Given the description of an element on the screen output the (x, y) to click on. 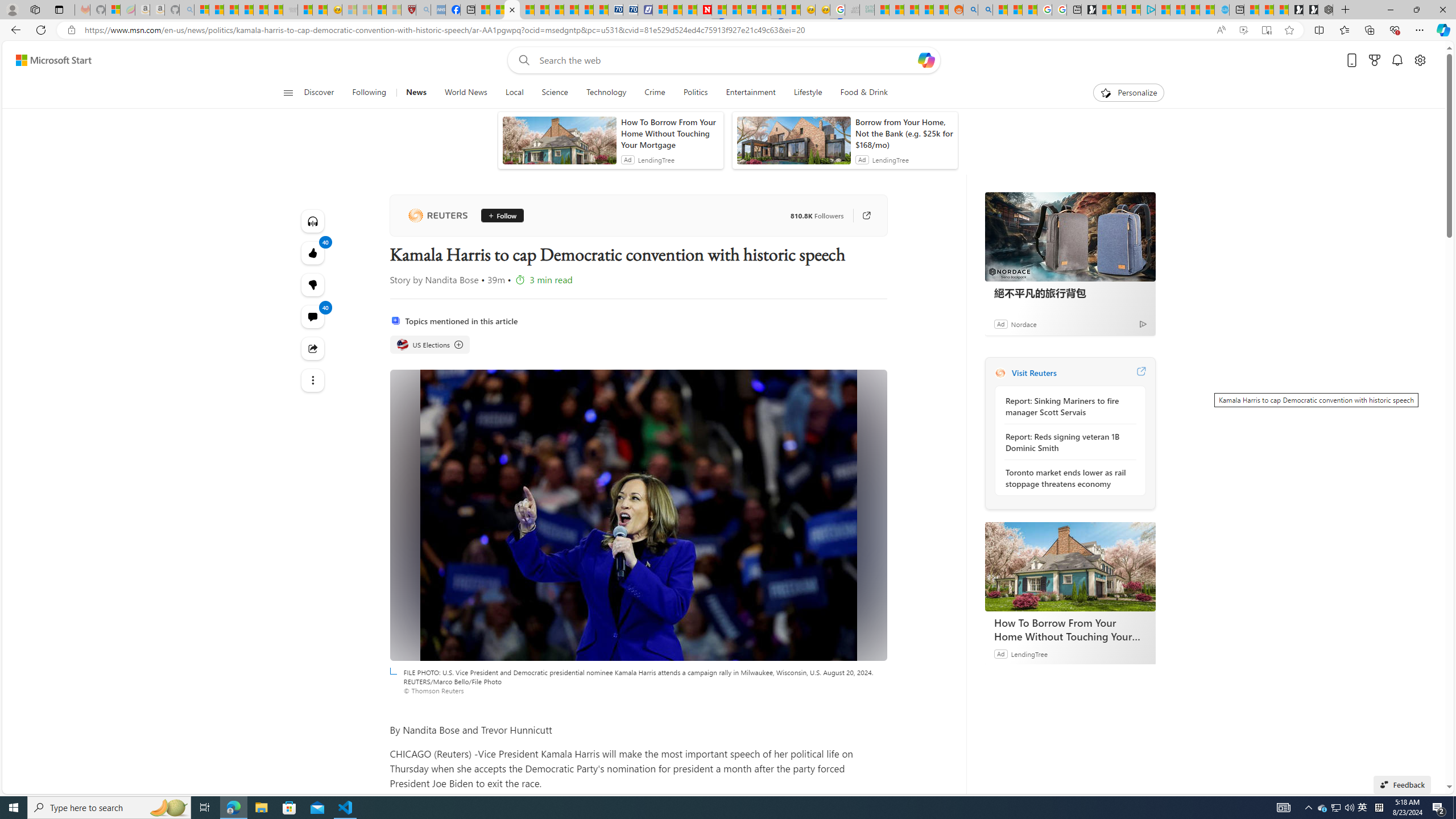
Follow (497, 215)
Reuters (437, 215)
US Elections (401, 344)
World News (465, 92)
Web search (520, 60)
